Given the description of an element on the screen output the (x, y) to click on. 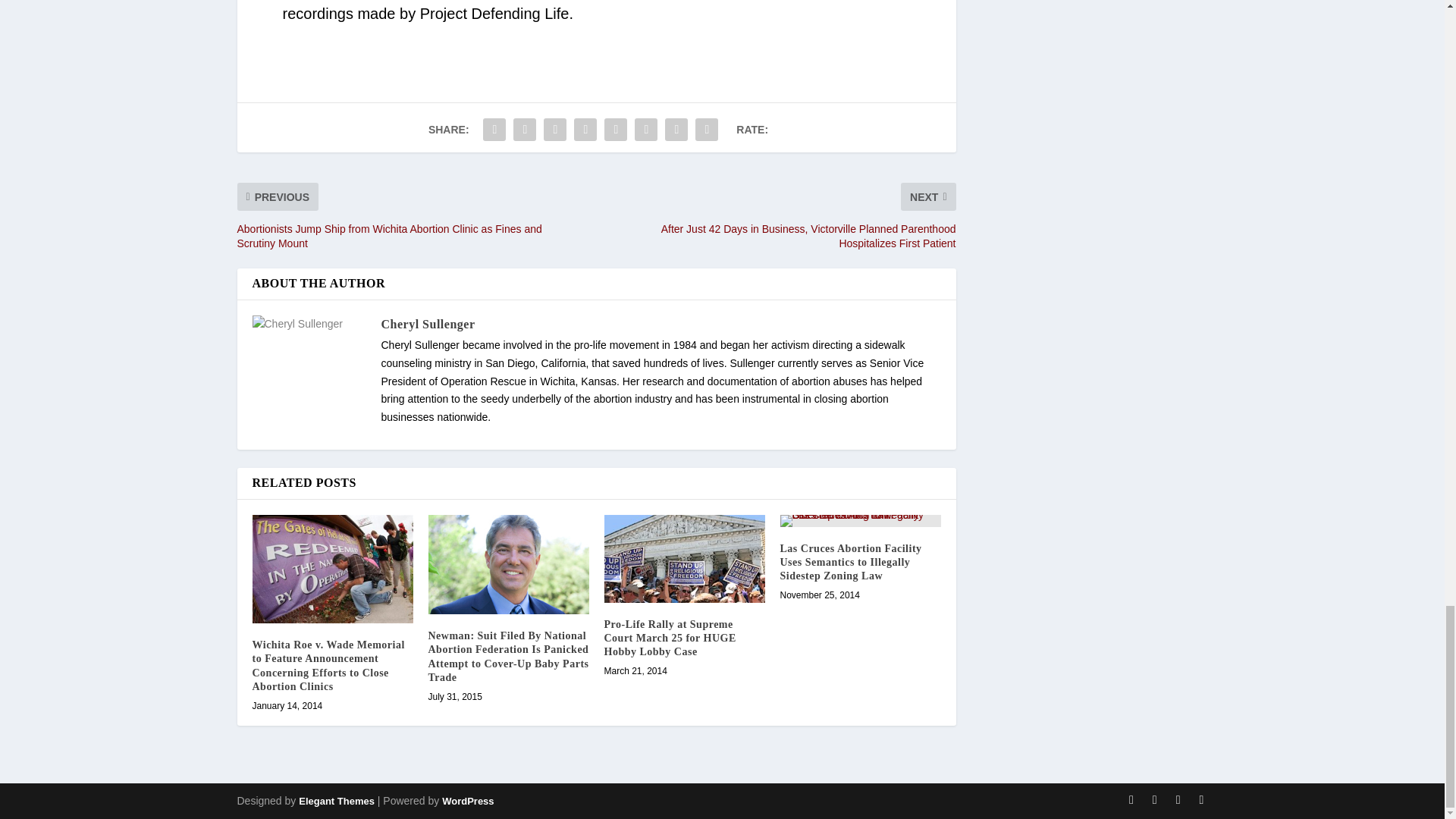
View all posts by Cheryl Sullenger (427, 323)
